Given the description of an element on the screen output the (x, y) to click on. 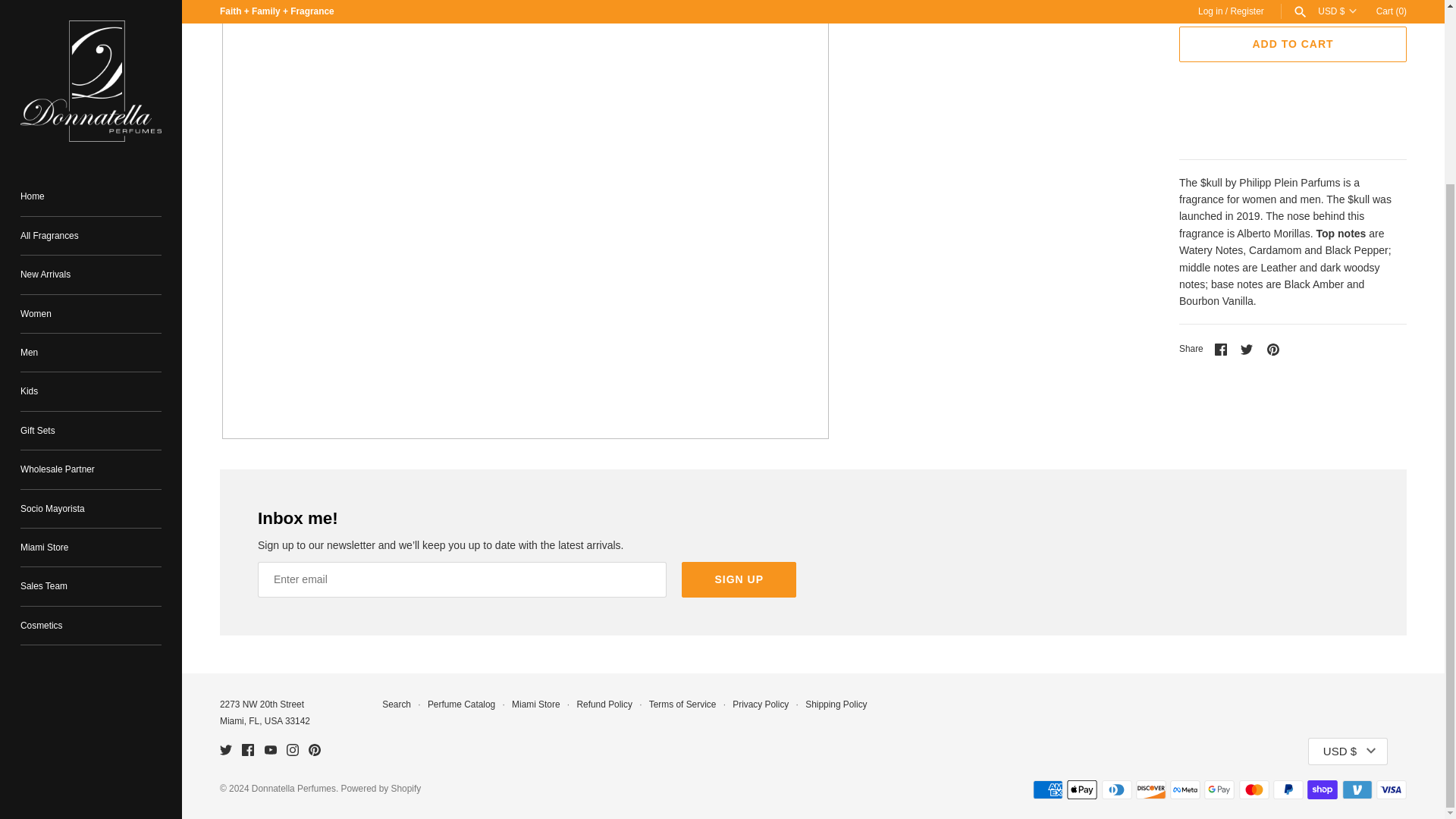
Twitter (225, 749)
Meta Pay (1184, 789)
Sales Team (90, 359)
Diners Club (1115, 789)
American Express (1047, 789)
Women (90, 87)
Instagram (292, 749)
Mastercard (1254, 789)
1 (1205, 5)
All Fragrances (90, 14)
